Given the description of an element on the screen output the (x, y) to click on. 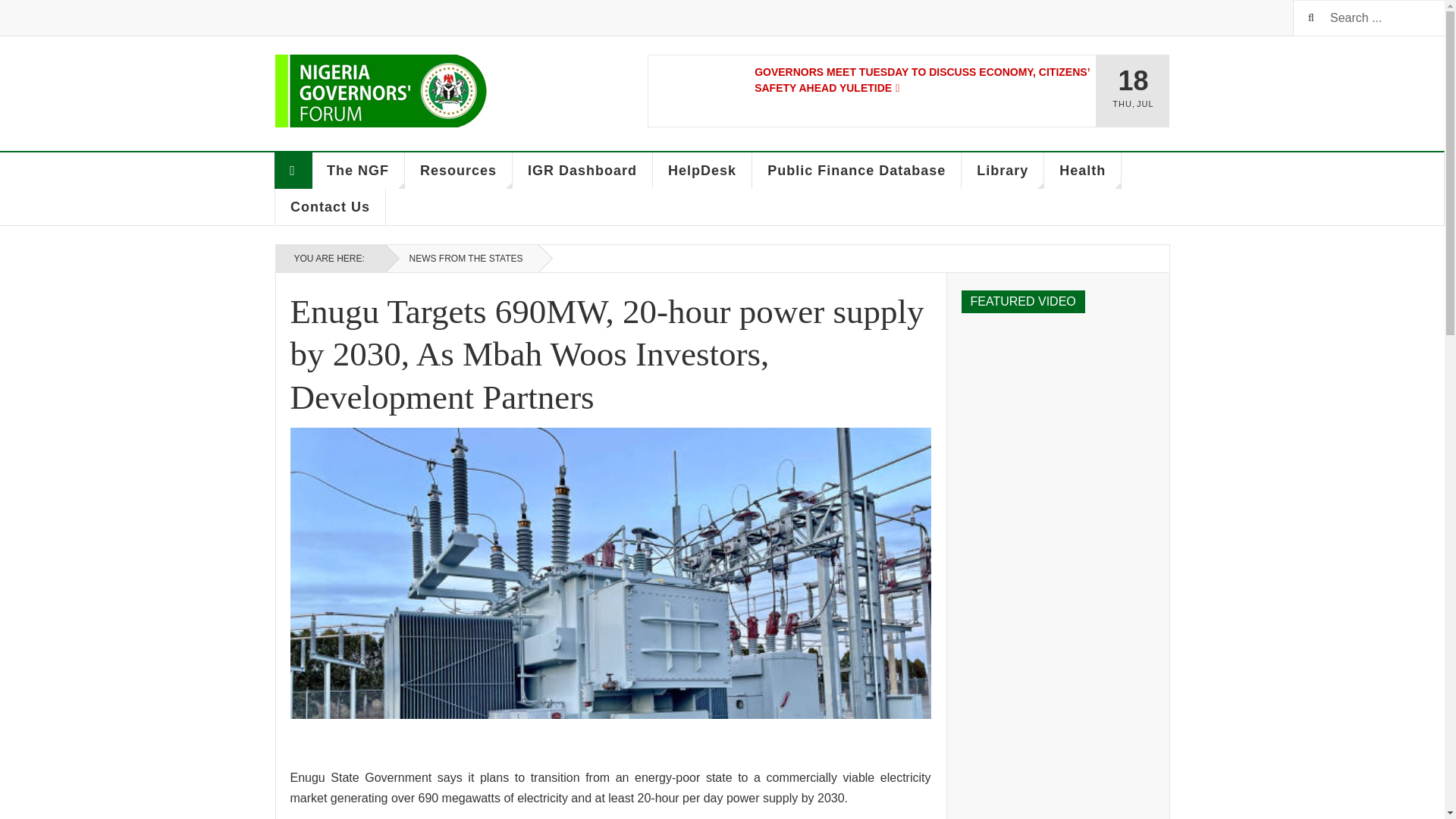
Simple youtube module by JoomShaper.com (1057, 369)
Teline V (380, 90)
